Given the description of an element on the screen output the (x, y) to click on. 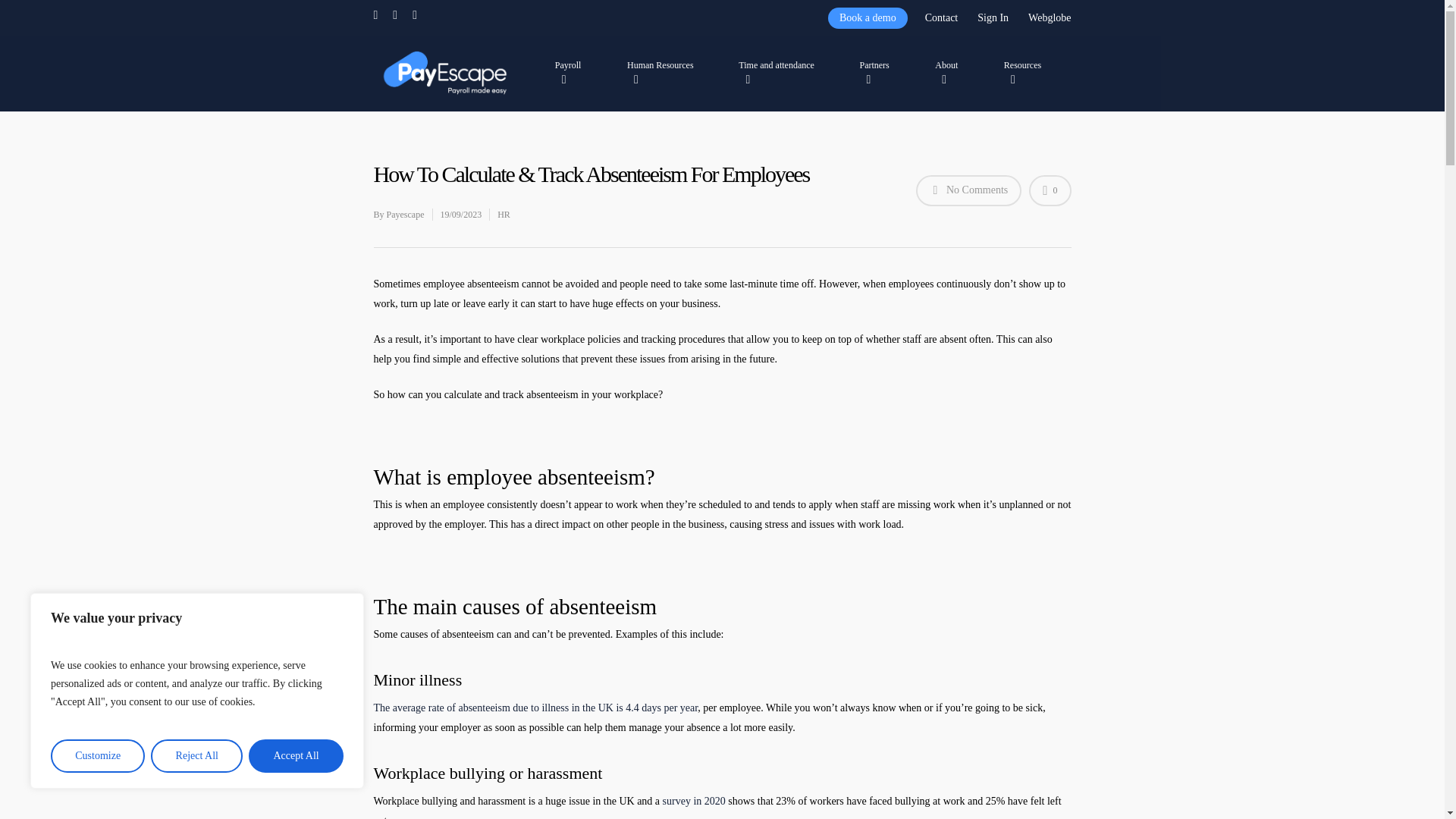
Sign In (992, 17)
Contact (941, 17)
Book a demo (867, 17)
Payroll (575, 72)
Customize (97, 756)
Love this (1049, 190)
Posts by Payescape (406, 214)
Accept All (295, 756)
Reject All (197, 756)
Webglobe (1048, 17)
